Given the description of an element on the screen output the (x, y) to click on. 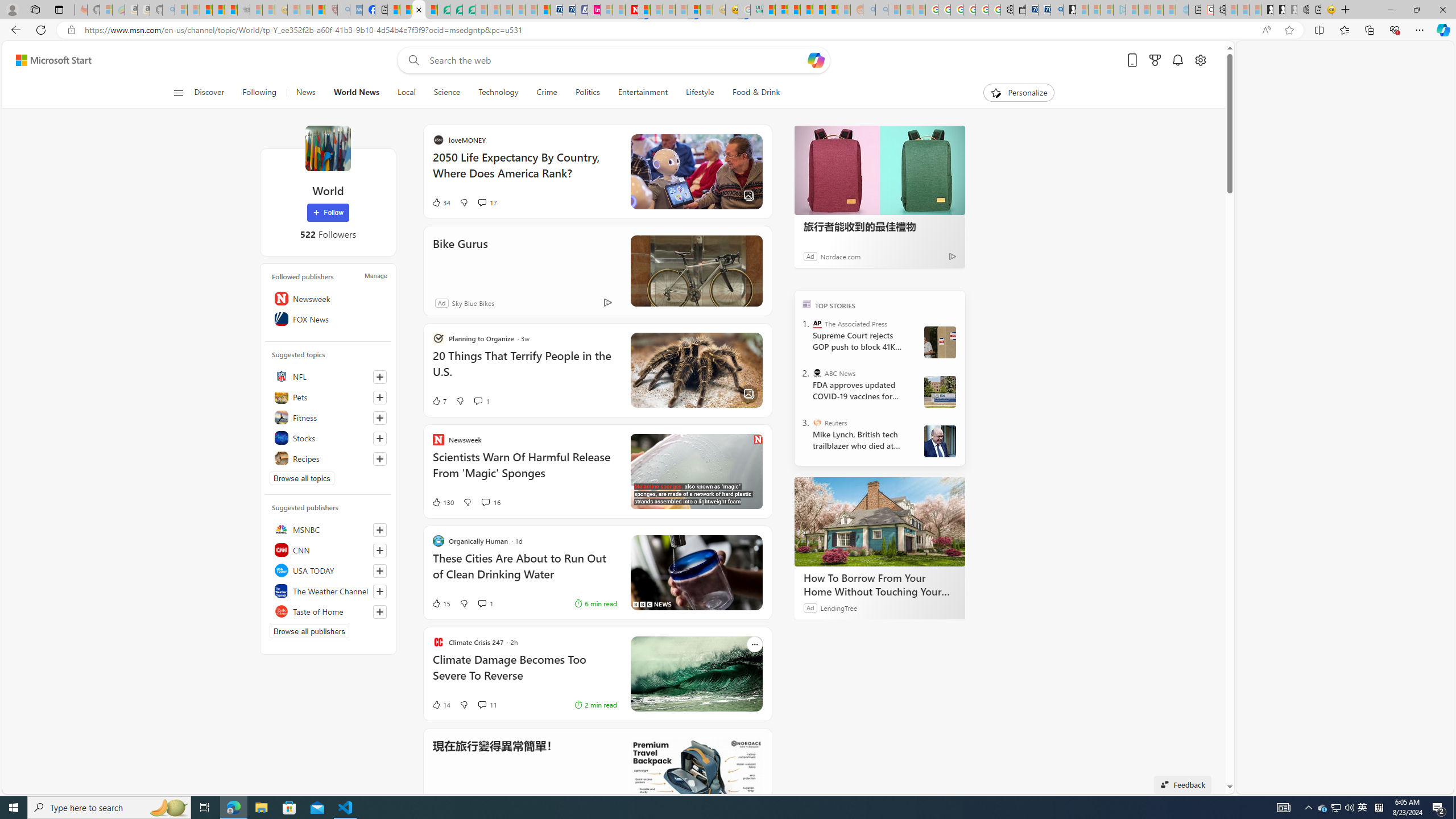
Newsweek (327, 298)
Follow (328, 212)
Climate Damage Becomes Too Severe To Reverse (524, 673)
